Given the description of an element on the screen output the (x, y) to click on. 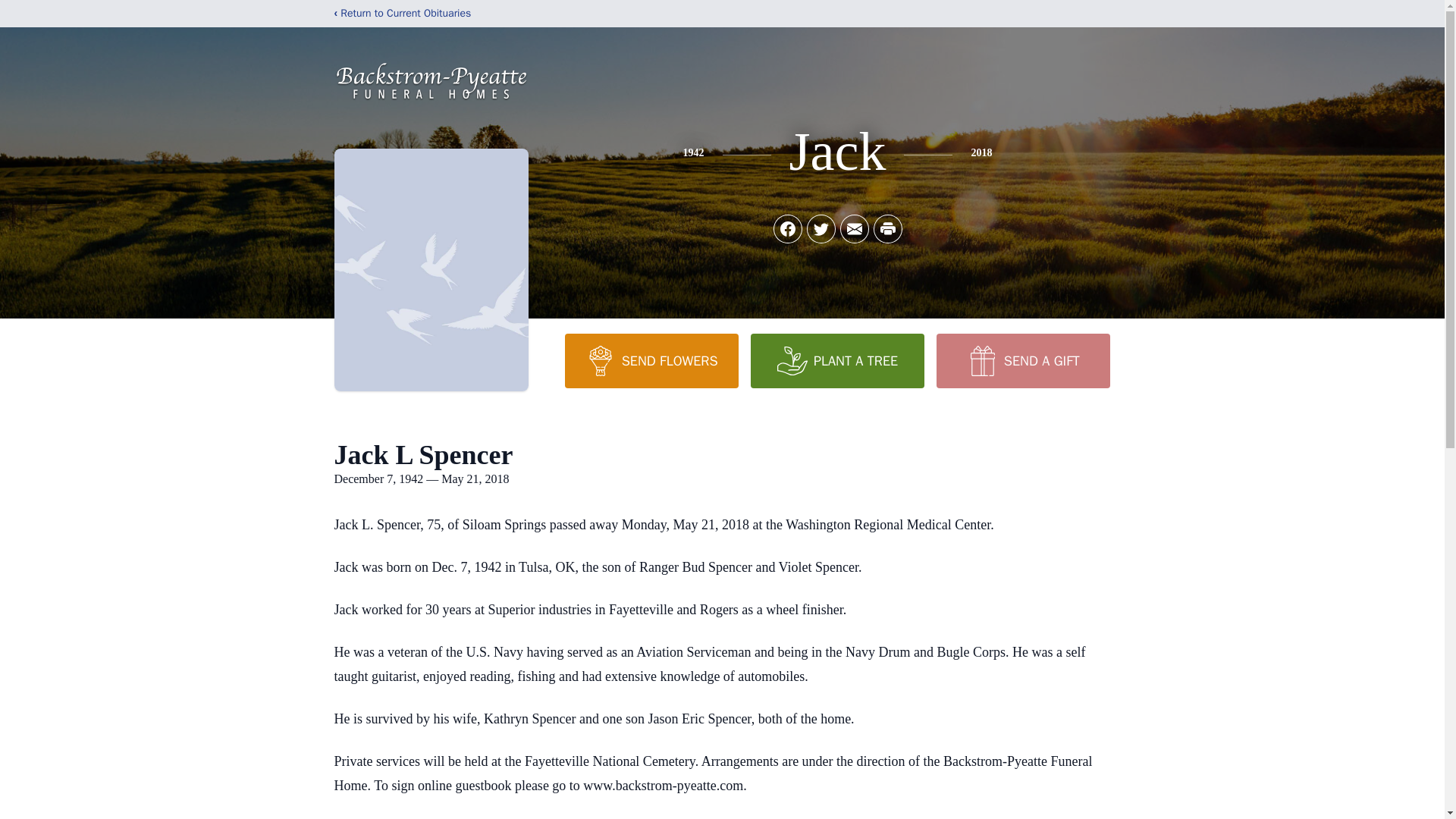
SEND A GIFT (1022, 360)
PLANT A TREE (837, 360)
SEND FLOWERS (651, 360)
